Given the description of an element on the screen output the (x, y) to click on. 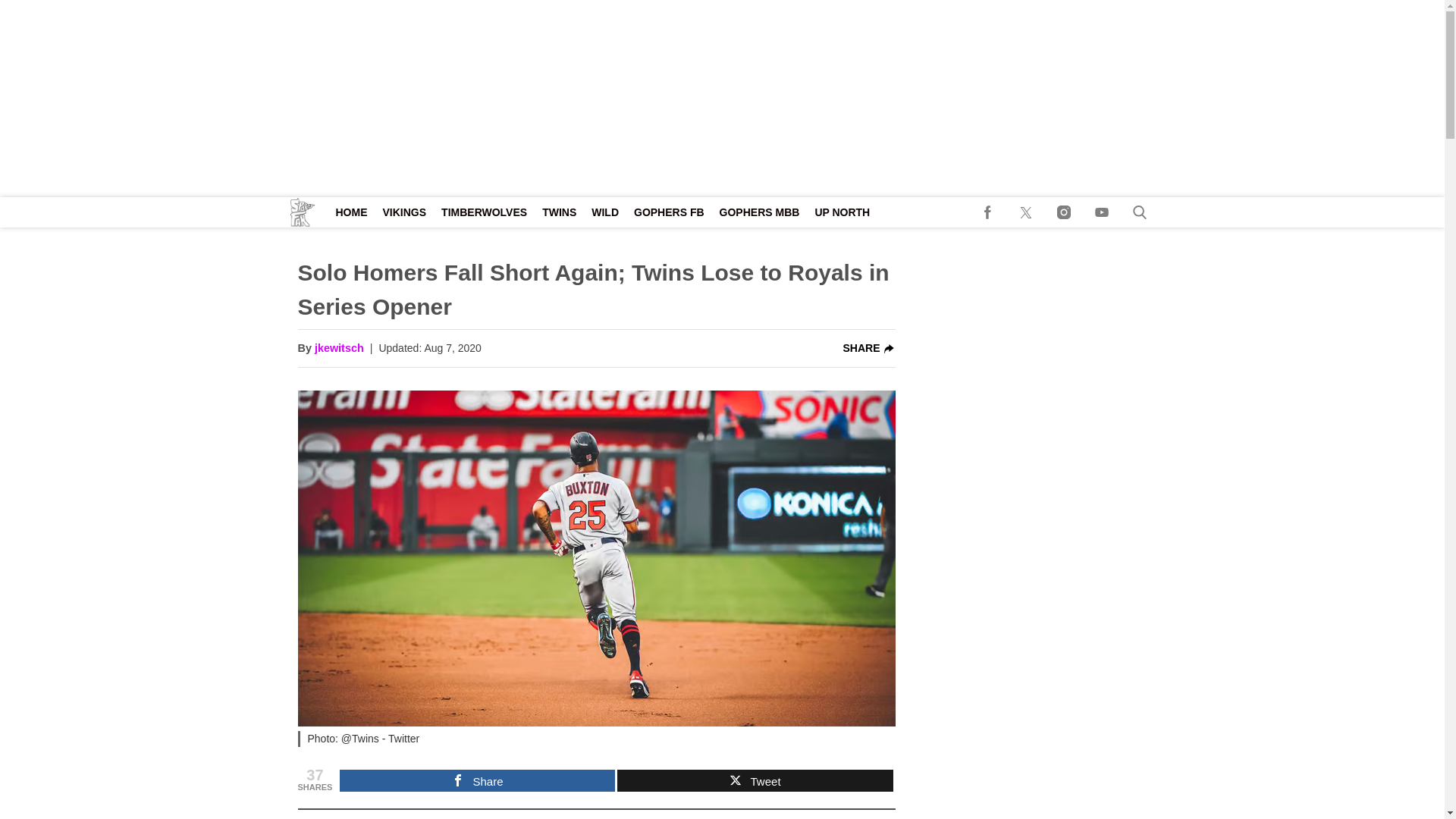
Follow us on Facebook (988, 212)
Share (476, 780)
HOME (350, 212)
UP NORTH (841, 212)
Subscribe to our YouTube channel (1102, 212)
Posts by jkewitsch (339, 348)
TWINS (558, 212)
Follow us on Twitter (1026, 212)
Follow us on Instagram (1064, 212)
Tweet (754, 780)
GOPHERS MBB (759, 212)
jkewitsch (339, 348)
WILD (604, 212)
TIMBERWOLVES (483, 212)
GOPHERS FB (668, 212)
